Given the description of an element on the screen output the (x, y) to click on. 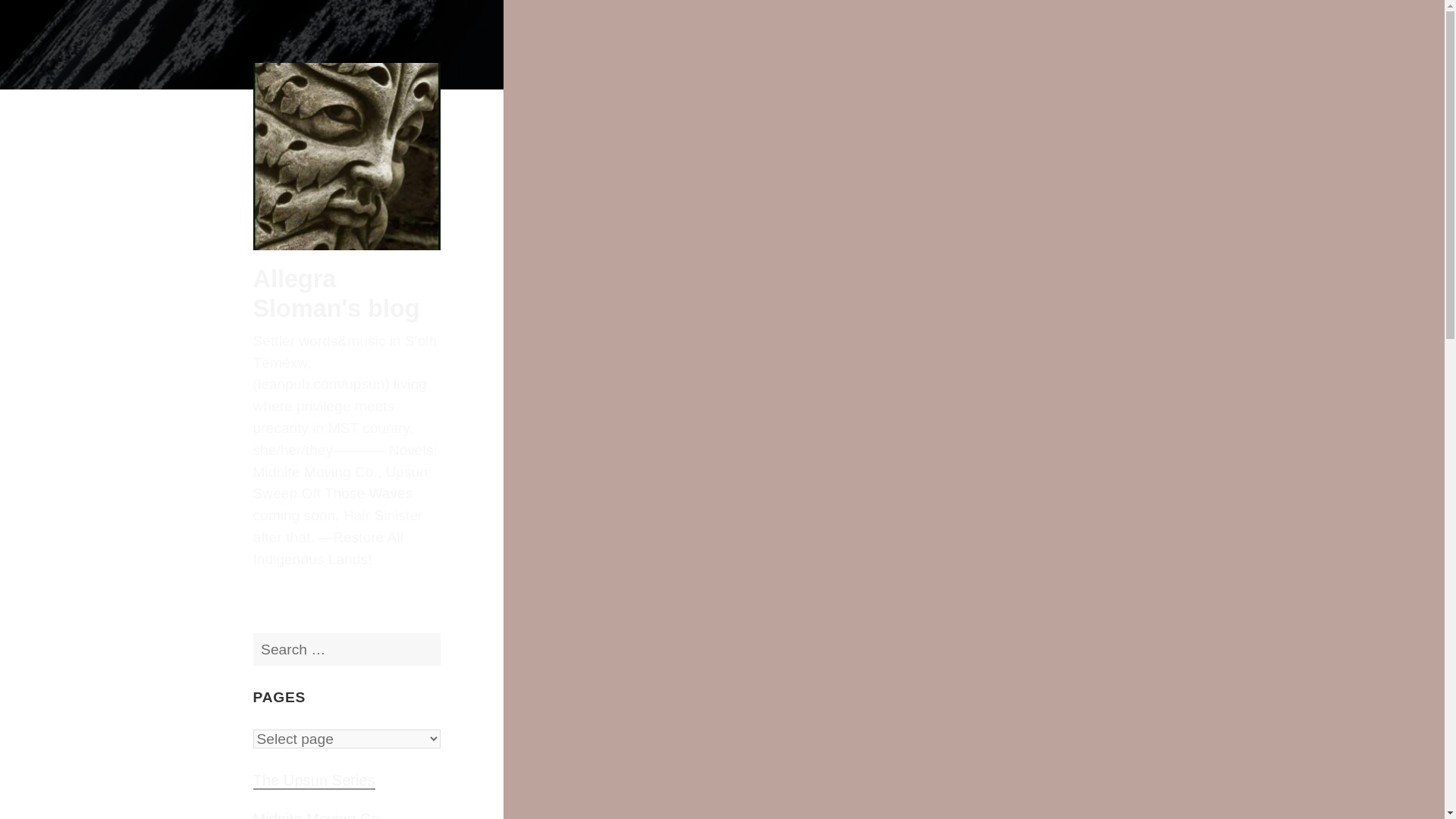
The Upsun Series (314, 781)
Midnite Moving Co (316, 815)
Allegra Sloman's blog (336, 293)
